Given the description of an element on the screen output the (x, y) to click on. 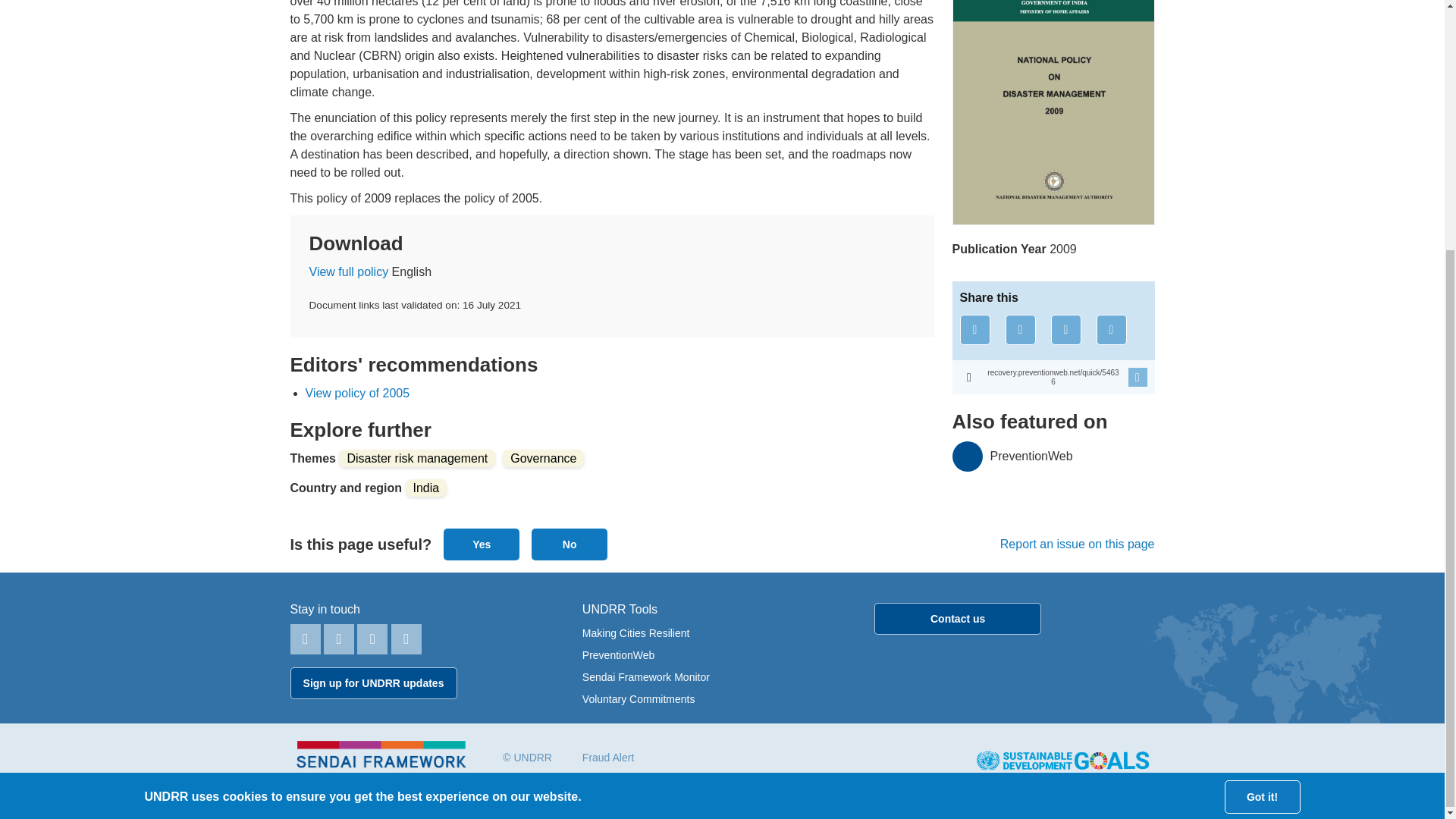
Copy to Clipboard (1053, 376)
Share on Facebook (974, 329)
Sendai Voluntary Commitments tool (638, 698)
Share via Email (1111, 329)
Share on LinkedIn (1066, 329)
Share on Twitter (1020, 329)
